Given the description of an element on the screen output the (x, y) to click on. 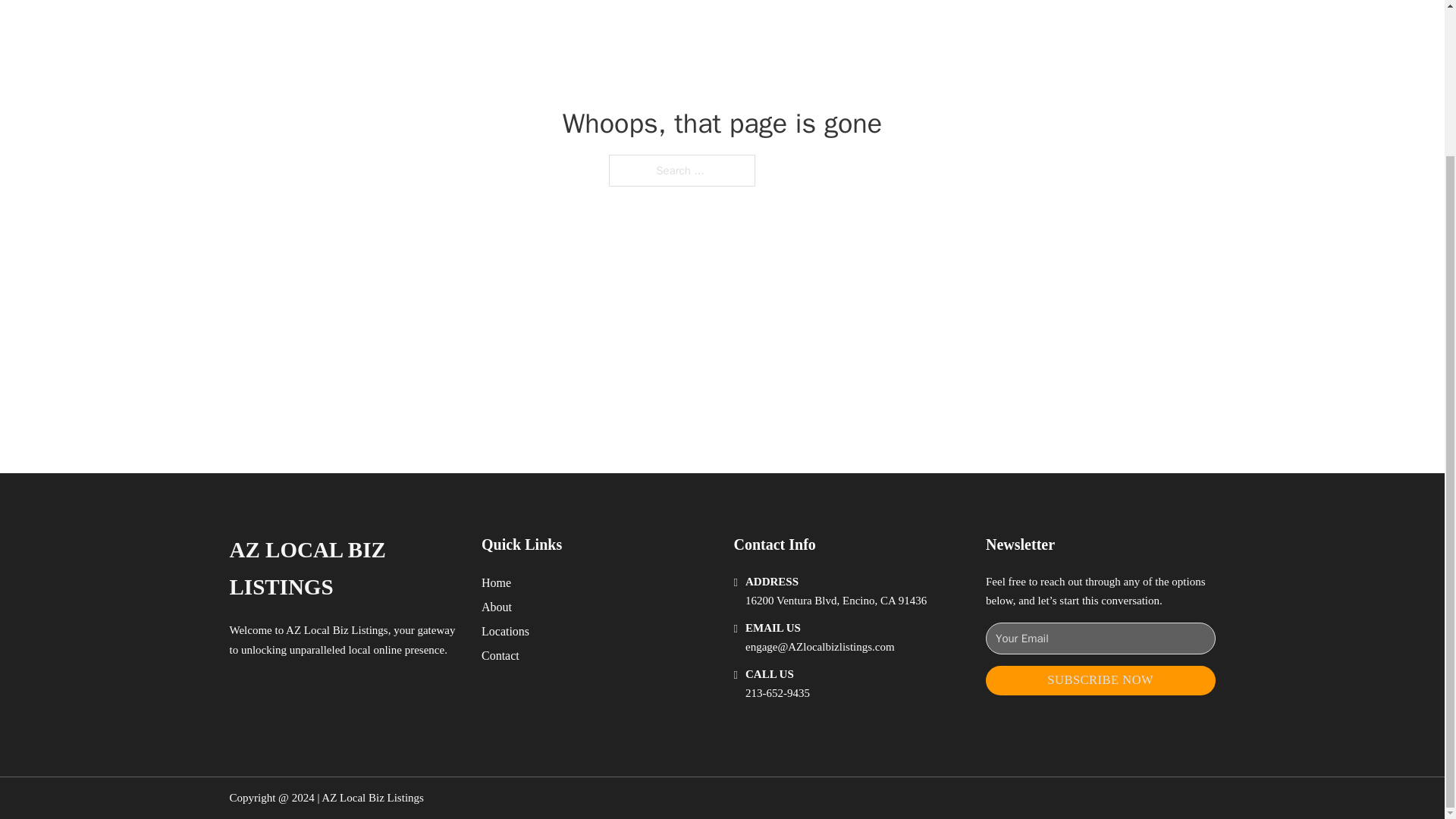
213-652-9435 (777, 693)
SUBSCRIBE NOW (1100, 680)
About (496, 607)
AZ LOCAL BIZ LISTINGS (343, 568)
Home (496, 582)
Locations (505, 630)
Contact (500, 655)
